Given the description of an element on the screen output the (x, y) to click on. 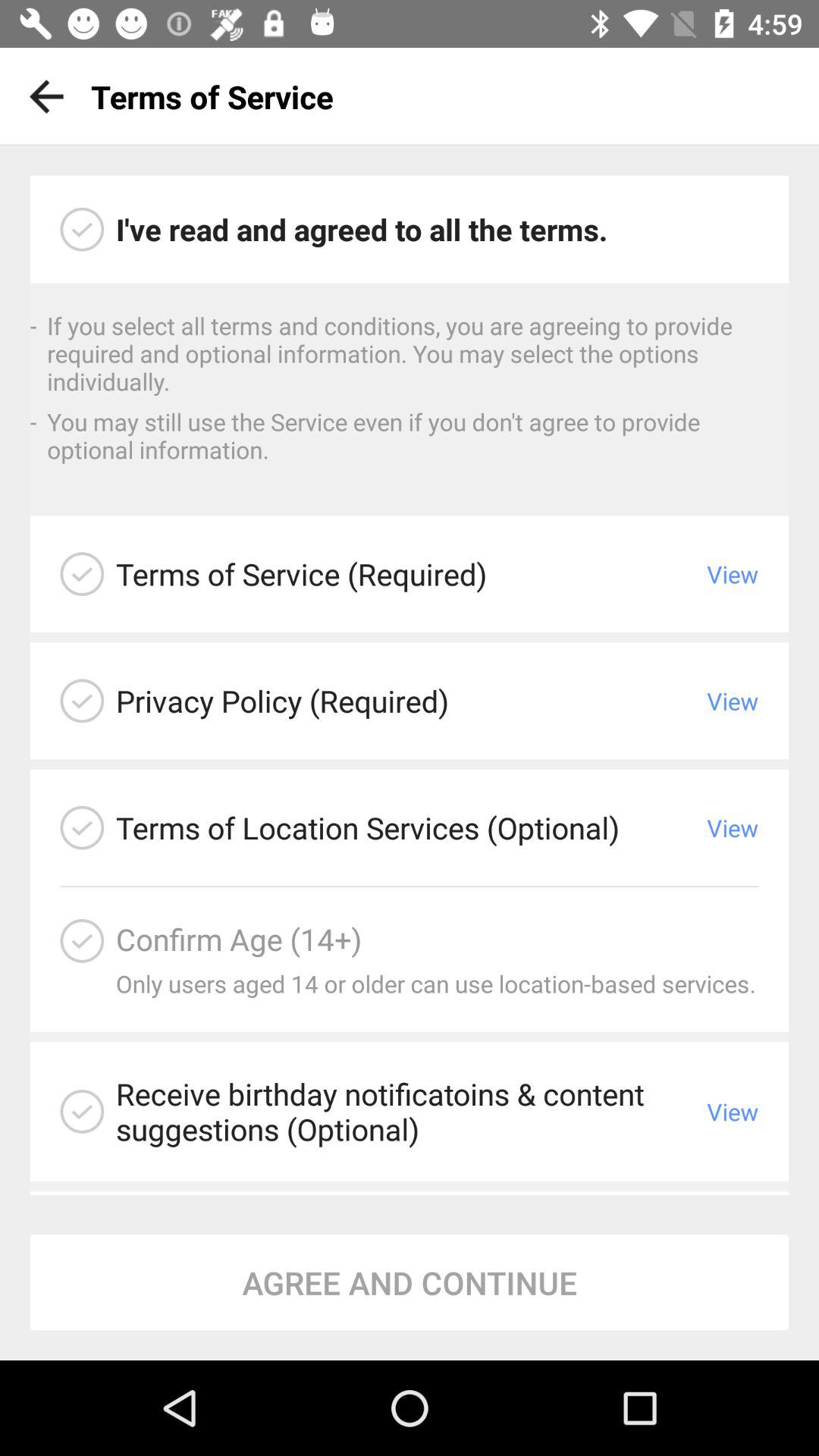
click circle to indicate you have read all the terms (82, 229)
